Given the description of an element on the screen output the (x, y) to click on. 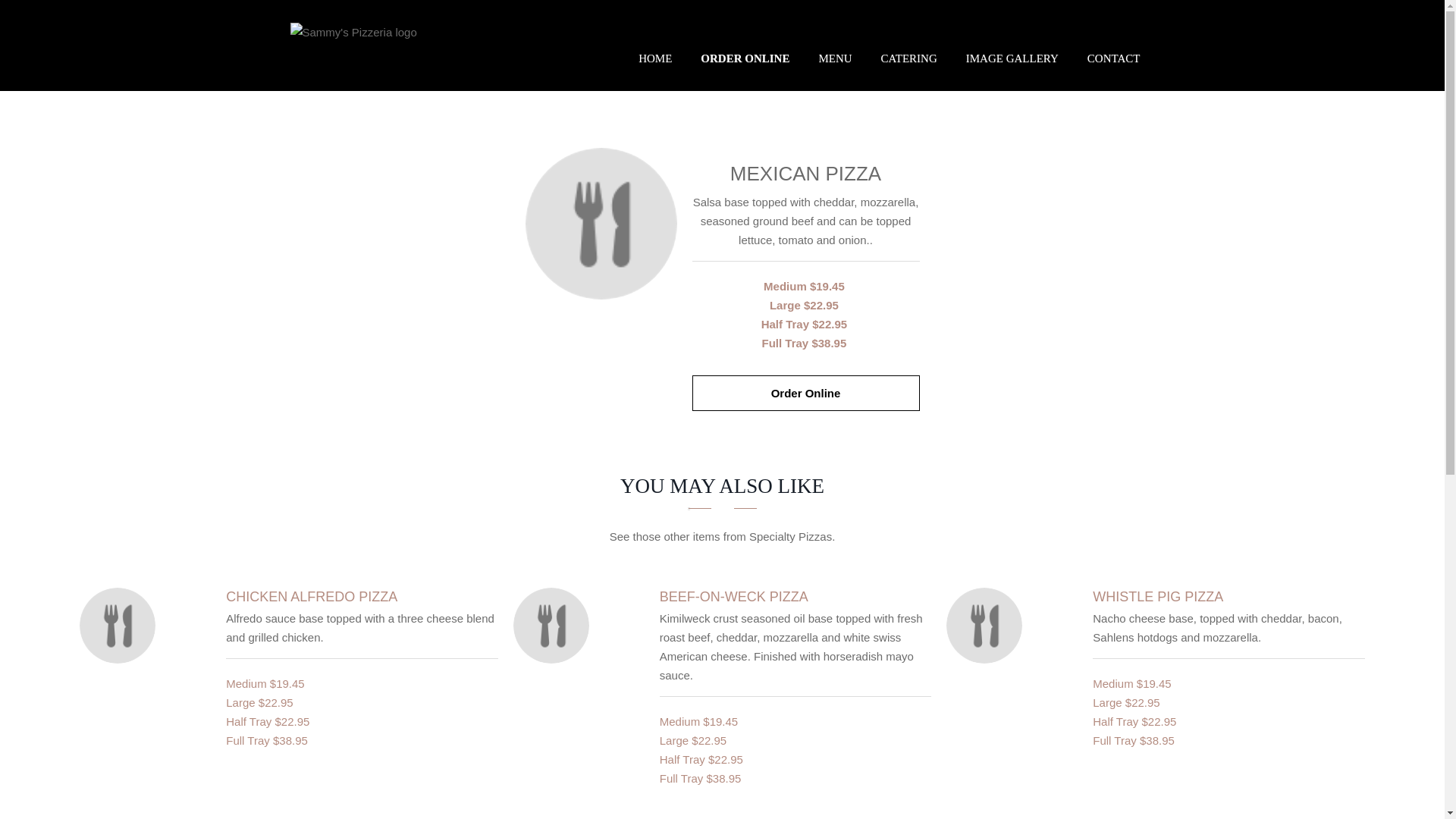
Order Online (600, 223)
Order Mexican Pizza Online (804, 173)
IMAGE GALLERY (1012, 58)
Order Online (804, 393)
WHISTLE PIG PIZZA (1158, 596)
Order Online (804, 393)
MEXICAN PIZZA (804, 173)
CONTACT (1113, 58)
HOME (654, 58)
CHICKEN ALFREDO PIZZA (311, 596)
ORDER ONLINE (744, 58)
BEEF-ON-WECK PIZZA (733, 596)
MENU (834, 58)
CATERING (909, 58)
